Given the description of an element on the screen output the (x, y) to click on. 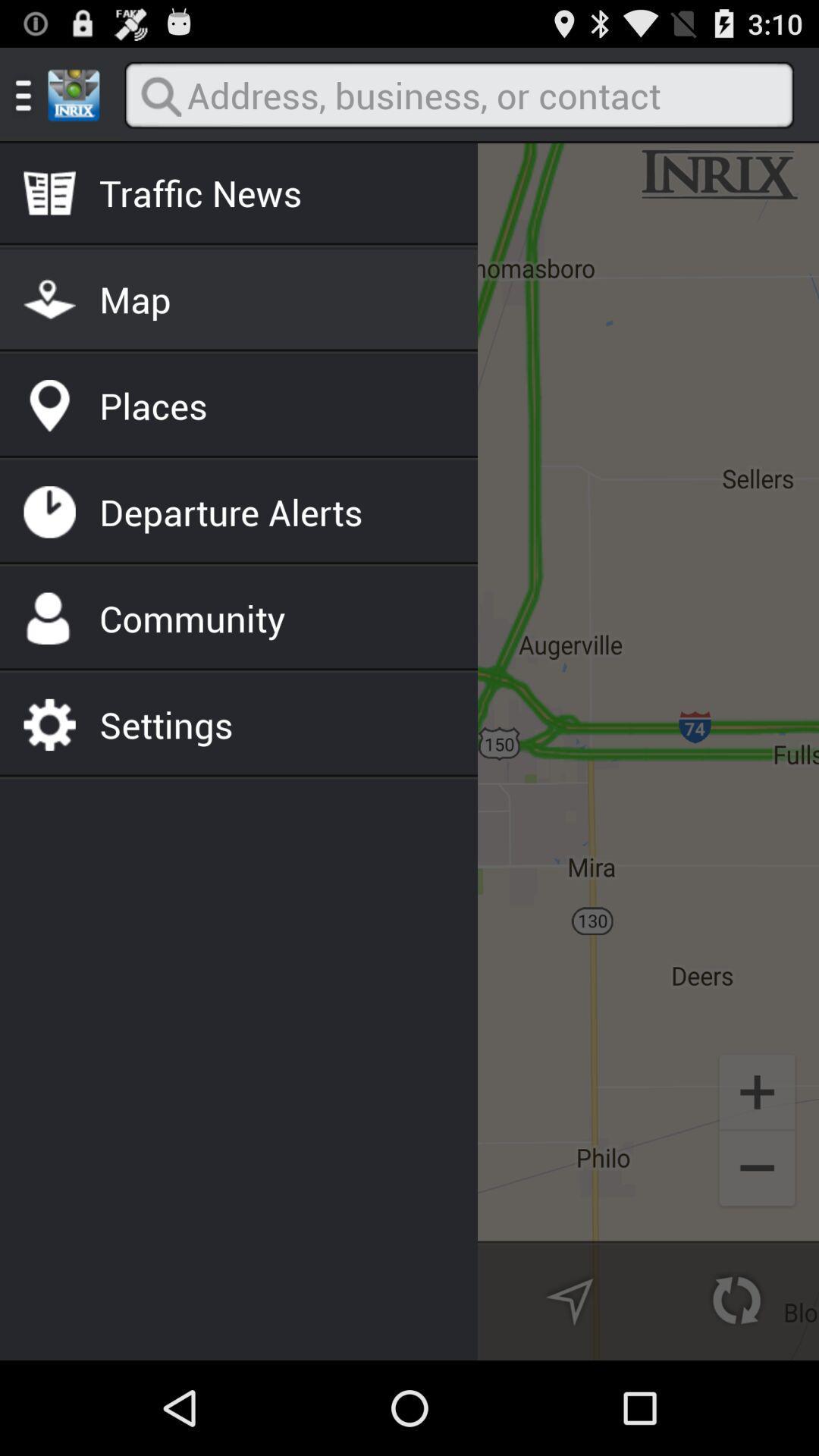
select the traffic news icon (200, 192)
